Given the description of an element on the screen output the (x, y) to click on. 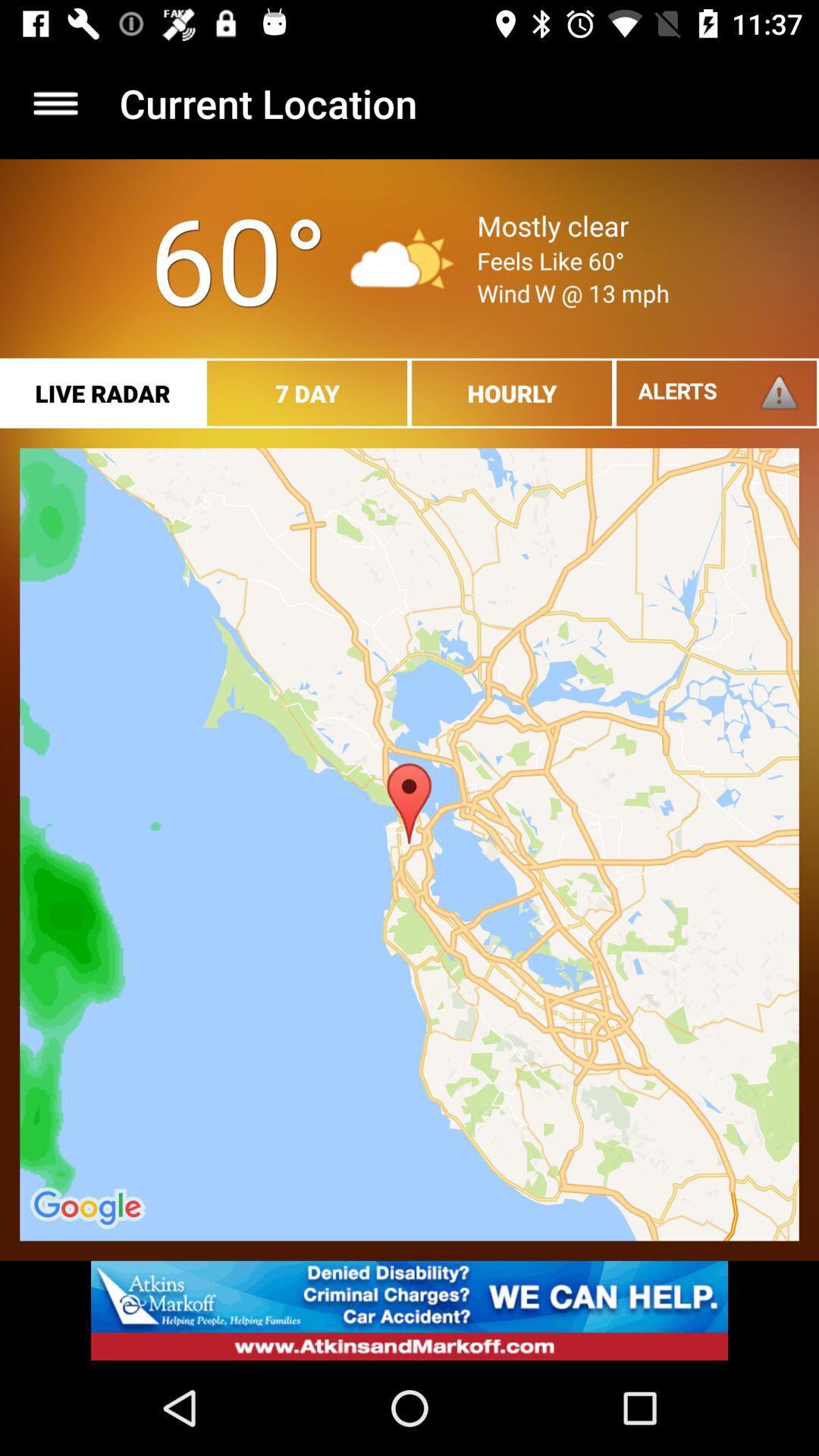
go to the alerts (716, 393)
